Given the description of an element on the screen output the (x, y) to click on. 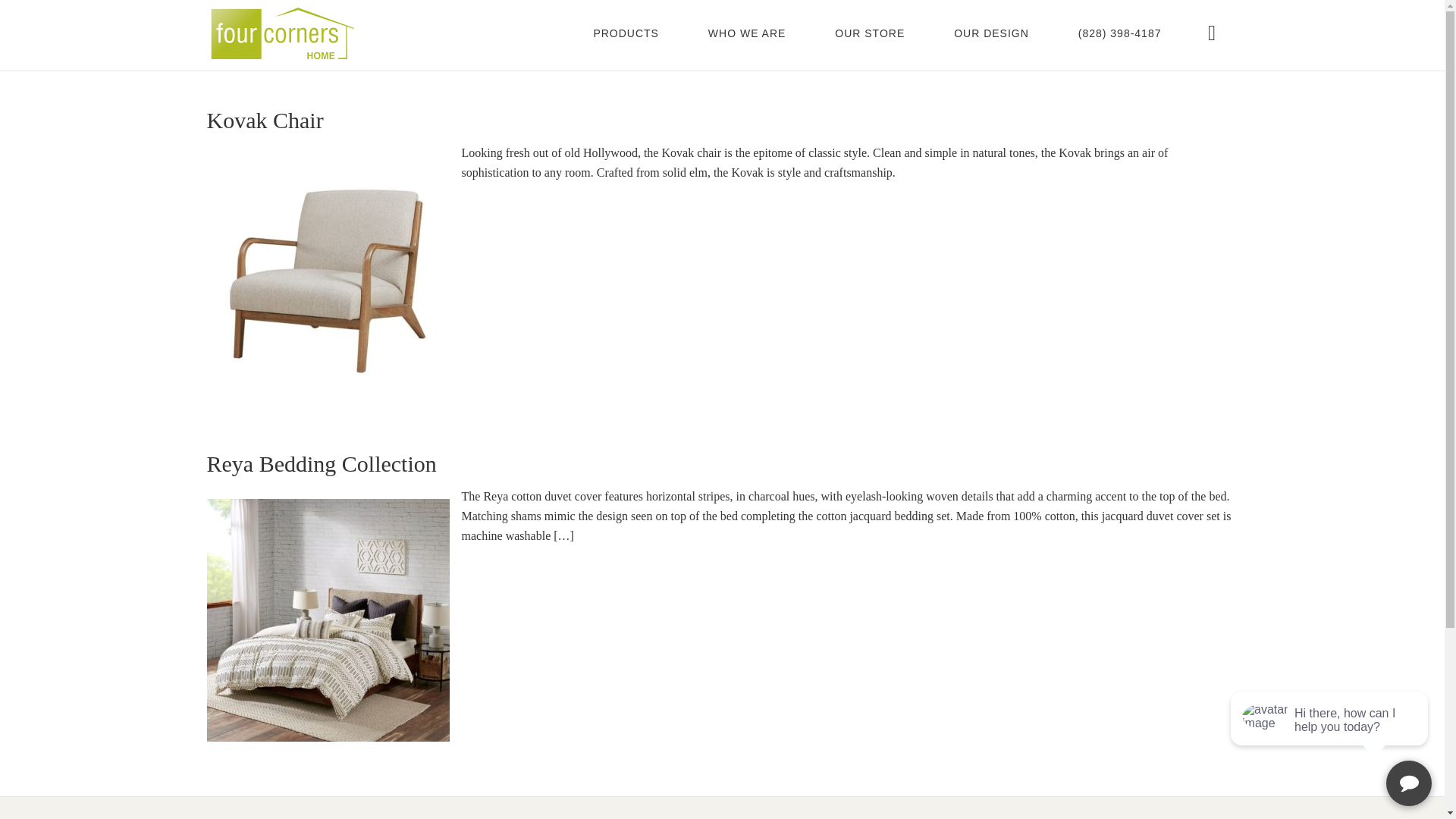
OUR STORE (869, 27)
Reya Bedding Collection (320, 463)
PRODUCTS (625, 27)
SHOW SEARCH (1212, 27)
WHO WE ARE (747, 27)
FOUR CORNERS HOME (282, 35)
OUR DESIGN (991, 27)
Kovak Chair (264, 119)
